Given the description of an element on the screen output the (x, y) to click on. 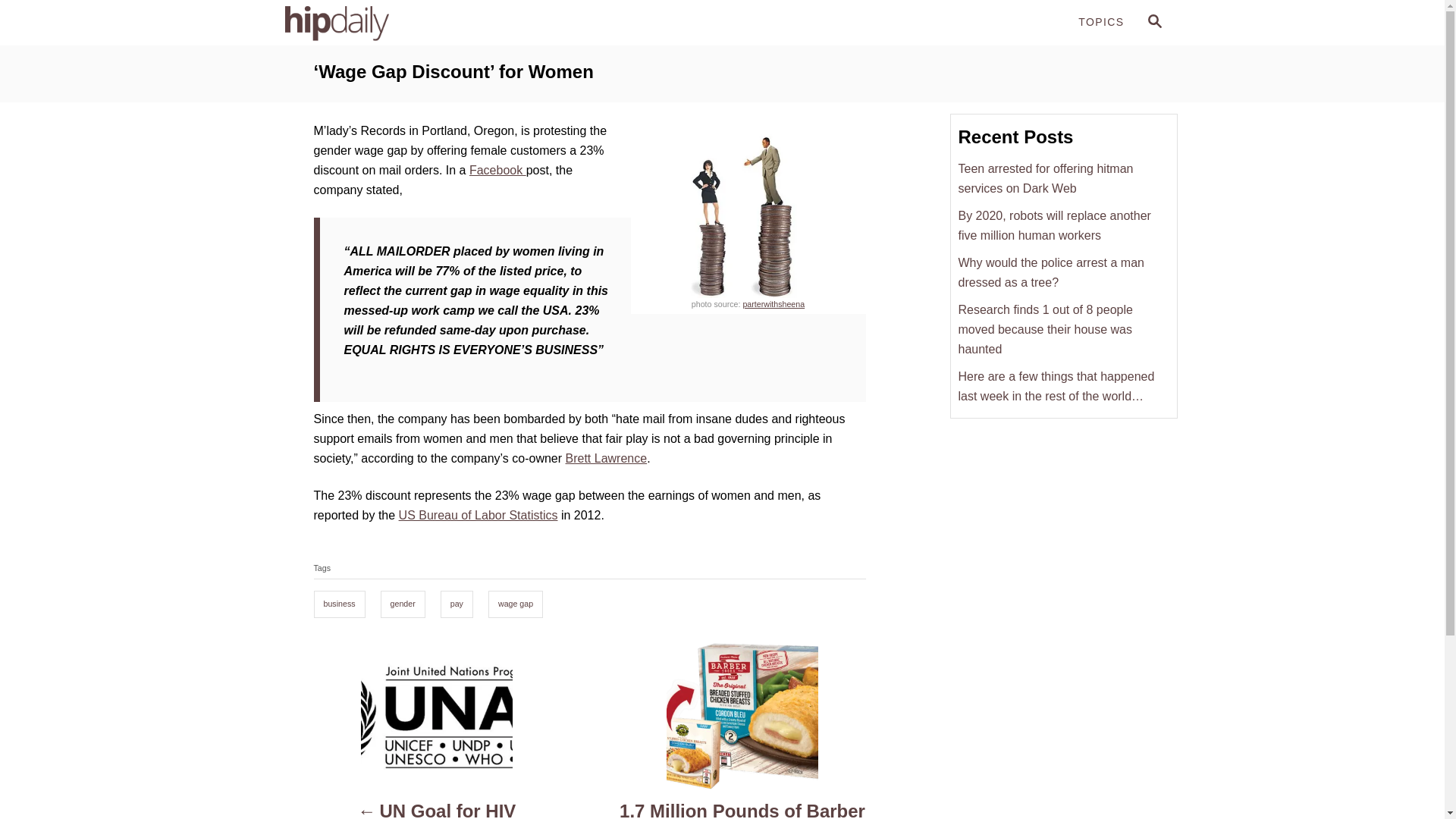
US Bureau of Labor Statistics (477, 514)
Brett Lawrence (1153, 22)
Facebook (606, 458)
parterwithsheena (496, 169)
gender (773, 303)
Hip Daily (402, 603)
UN Goal for HIV Treatment in 2015 Already Met (403, 22)
pay (437, 809)
wage gap (457, 603)
Teen arrested for offering hitman services on Dark Web (515, 603)
MAGNIFYING GLASS (1063, 177)
Why would the police arrest a man dressed as a tree? (1153, 21)
